Given the description of an element on the screen output the (x, y) to click on. 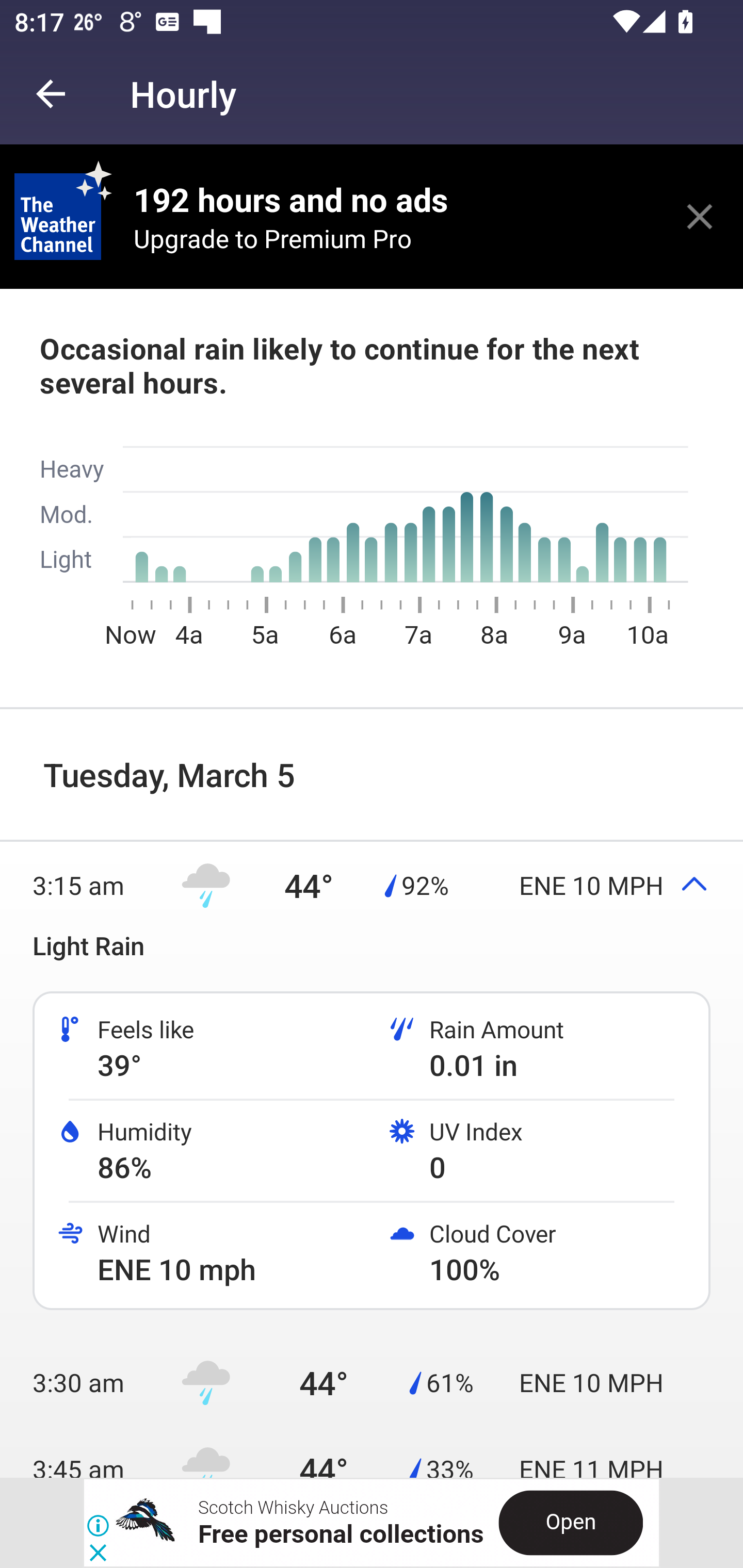
Navigate up (50, 93)
close this (699, 216)
3:15 am 44° 92% ENE 10 MPH (371, 885)
